Given the description of an element on the screen output the (x, y) to click on. 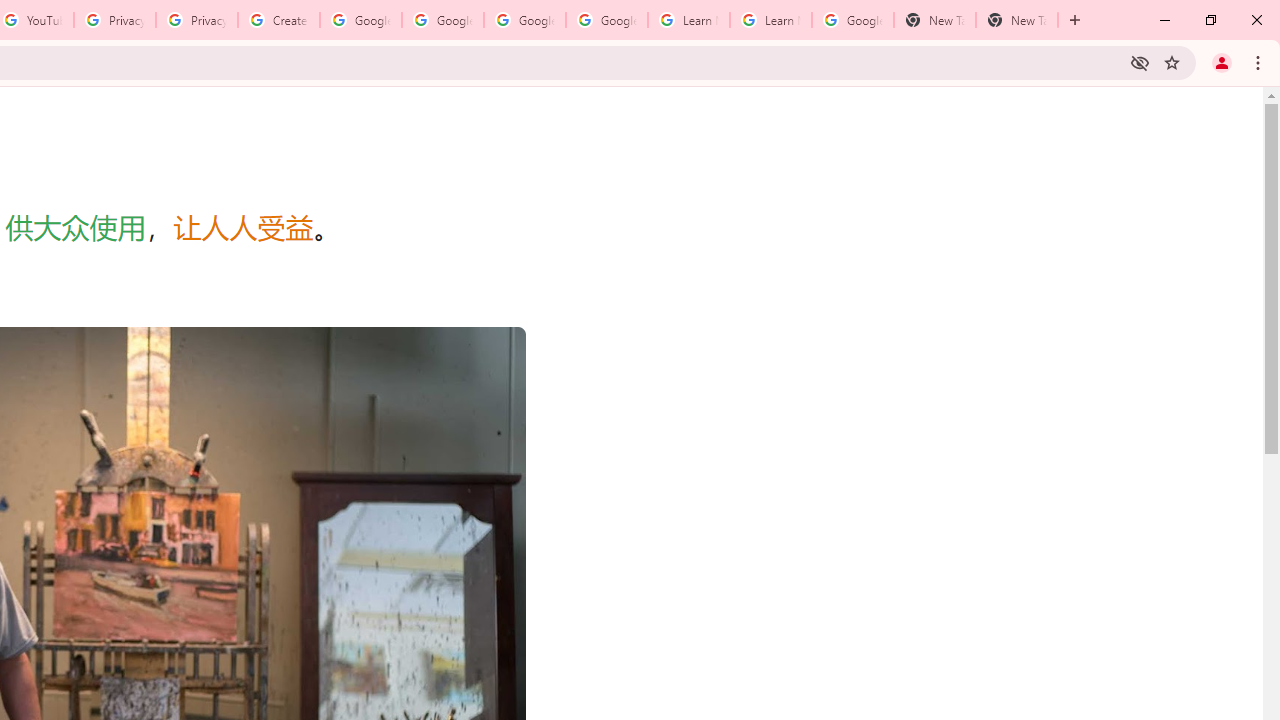
New Tab (934, 20)
Google Account Help (524, 20)
